Given the description of an element on the screen output the (x, y) to click on. 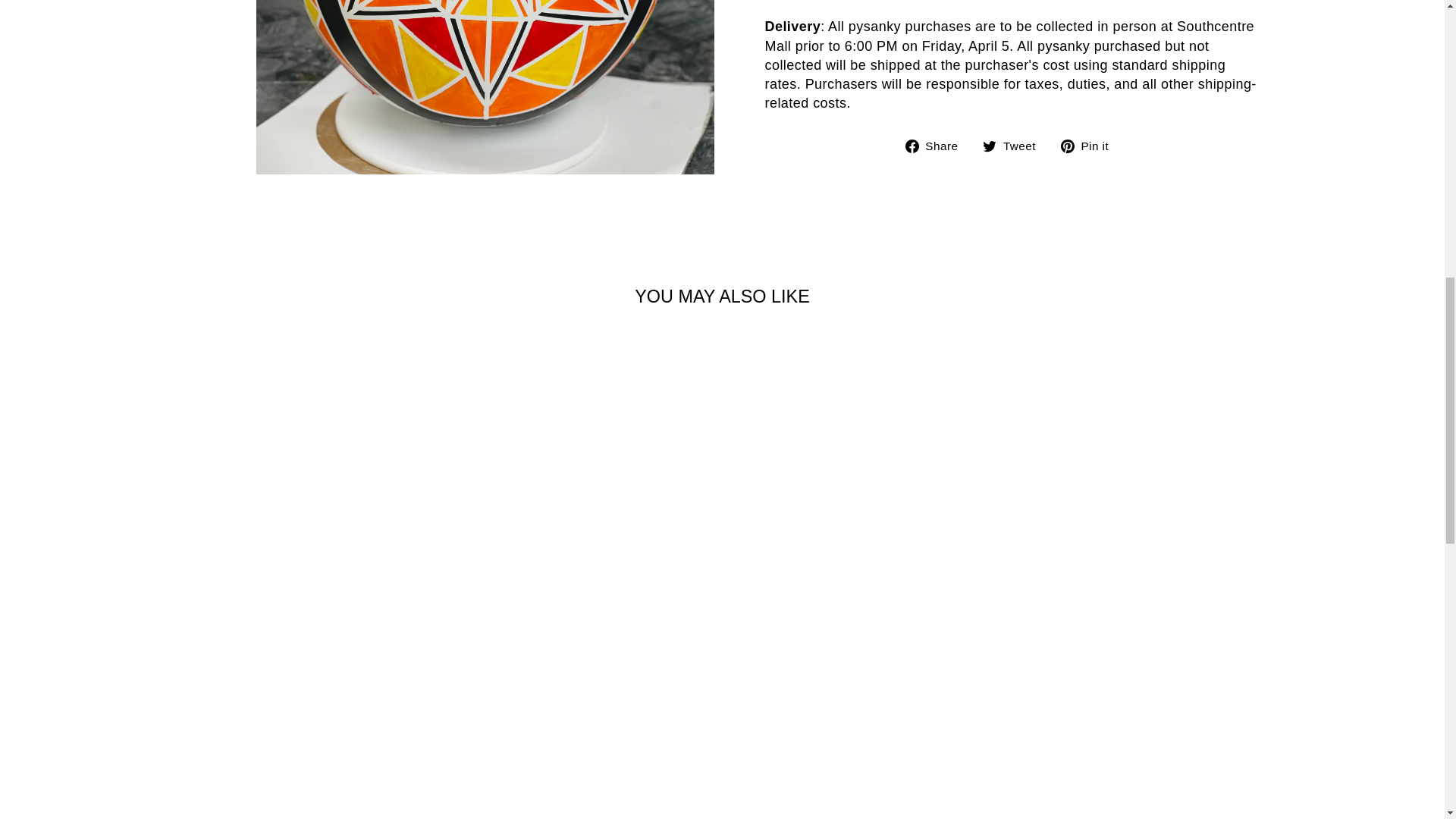
twitter (988, 146)
Share on Facebook (937, 144)
Tweet on Twitter (1014, 144)
Pin on Pinterest (1090, 144)
